Given the description of an element on the screen output the (x, y) to click on. 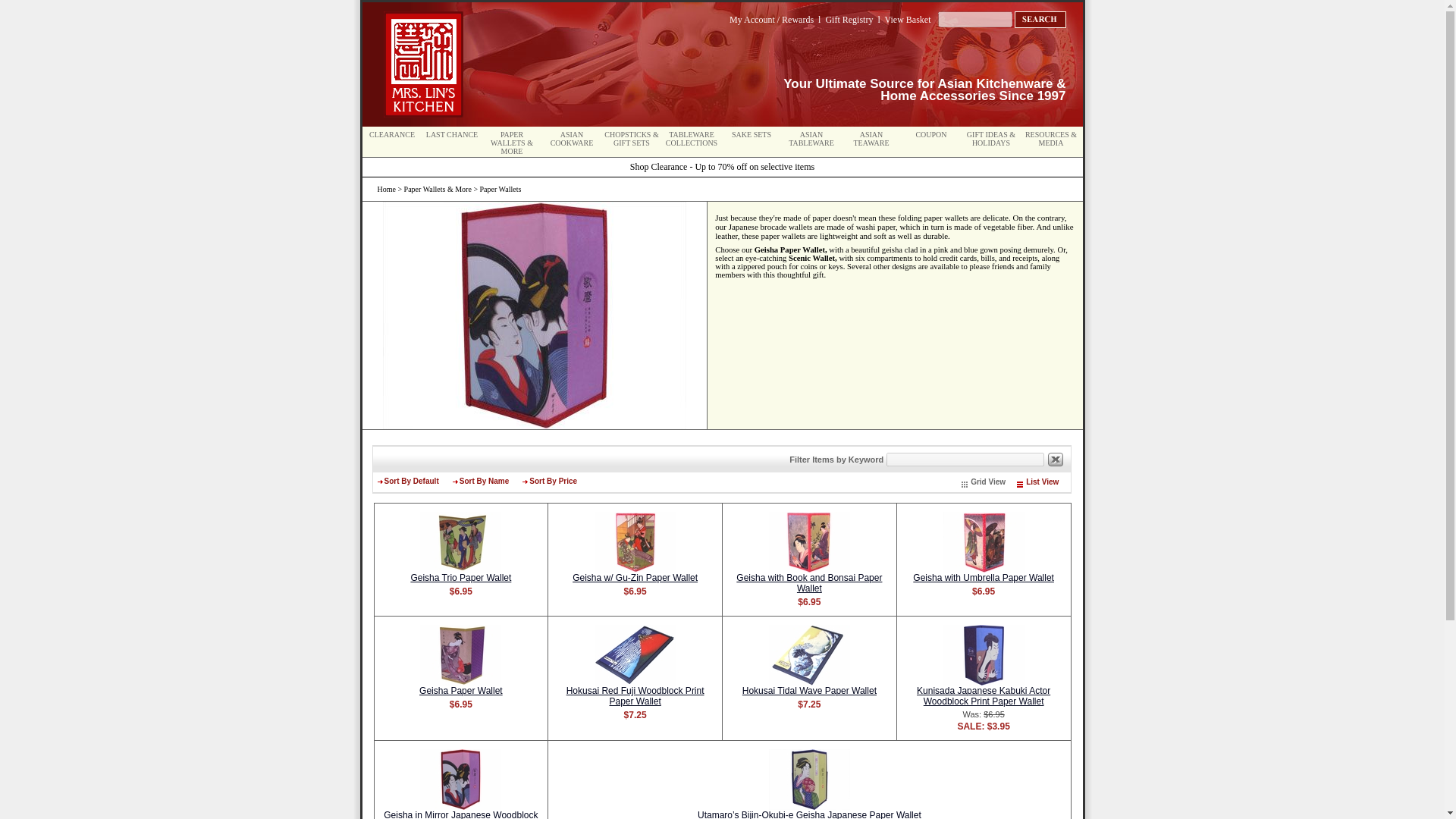
Chopsticks and Chopstick Gift Sets (631, 138)
Gift Registry (848, 19)
Asian Teaware (871, 138)
CLEARANCE (391, 134)
Asian Tableware (811, 138)
View Basket (908, 19)
LAST CHANCE (451, 134)
Coupon  (930, 134)
Last Chance (451, 134)
Clearance (391, 134)
Tableware Collections (691, 138)
Sake Sets (751, 134)
Asian Cookware (572, 138)
